Given the description of an element on the screen output the (x, y) to click on. 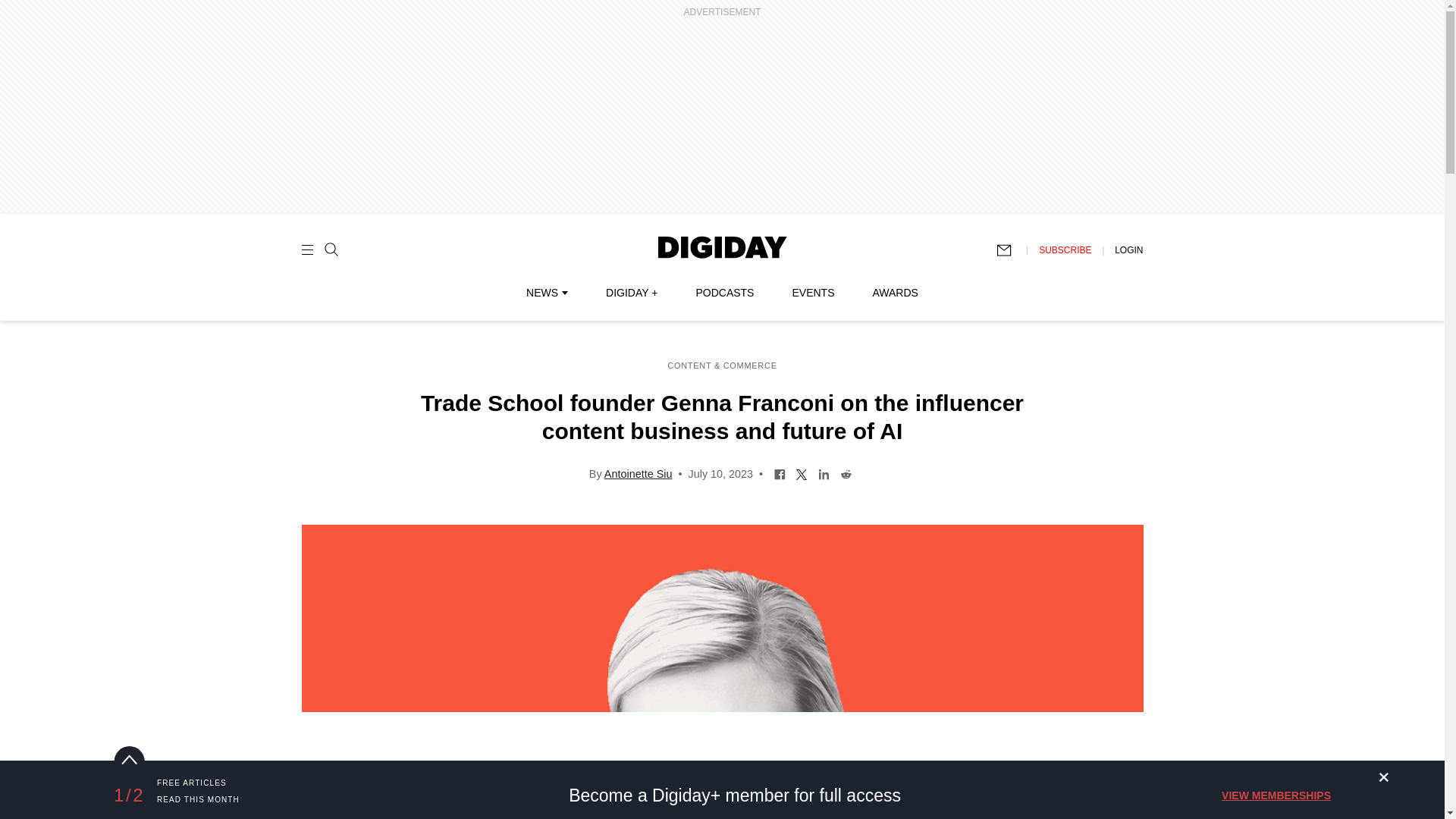
LOGIN (1128, 249)
AWARDS (894, 292)
Share on Facebook (779, 472)
Subscribe (1010, 250)
PODCASTS (725, 292)
Share on Twitter (801, 472)
SUBSCRIBE (1064, 249)
Share on LinkedIn (822, 472)
EVENTS (813, 292)
Share on Reddit (845, 472)
NEWS (546, 292)
